Given the description of an element on the screen output the (x, y) to click on. 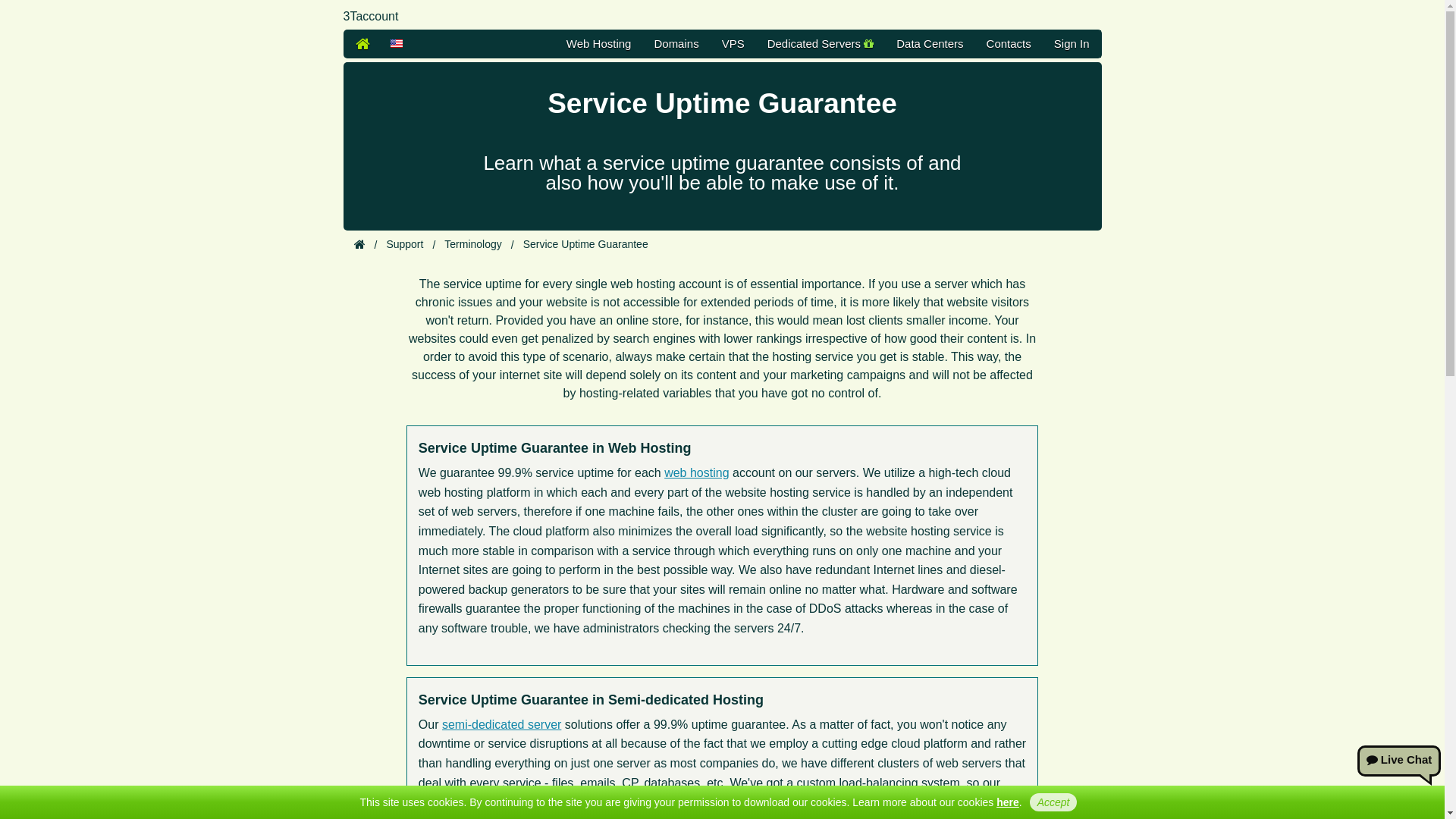
web hosting Element type: text (696, 472)
Service Uptime Guarantee Element type: text (585, 244)
VPS Element type: text (733, 43)
Terminology Element type: text (472, 244)
Dedicated Servers Element type: text (820, 43)
Web Hosting Element type: text (599, 43)
3Taccount Element type: hover (361, 43)
Data Centers Element type: text (929, 43)
Contacts Element type: text (1008, 43)
Live Chat Element type: text (1398, 760)
Sign In Element type: text (1071, 43)
Accept Element type: text (1053, 802)
Domains Element type: text (675, 43)
Support Element type: text (404, 244)
here Element type: text (1007, 802)
semi-dedicated server Element type: text (501, 724)
